Given the description of an element on the screen output the (x, y) to click on. 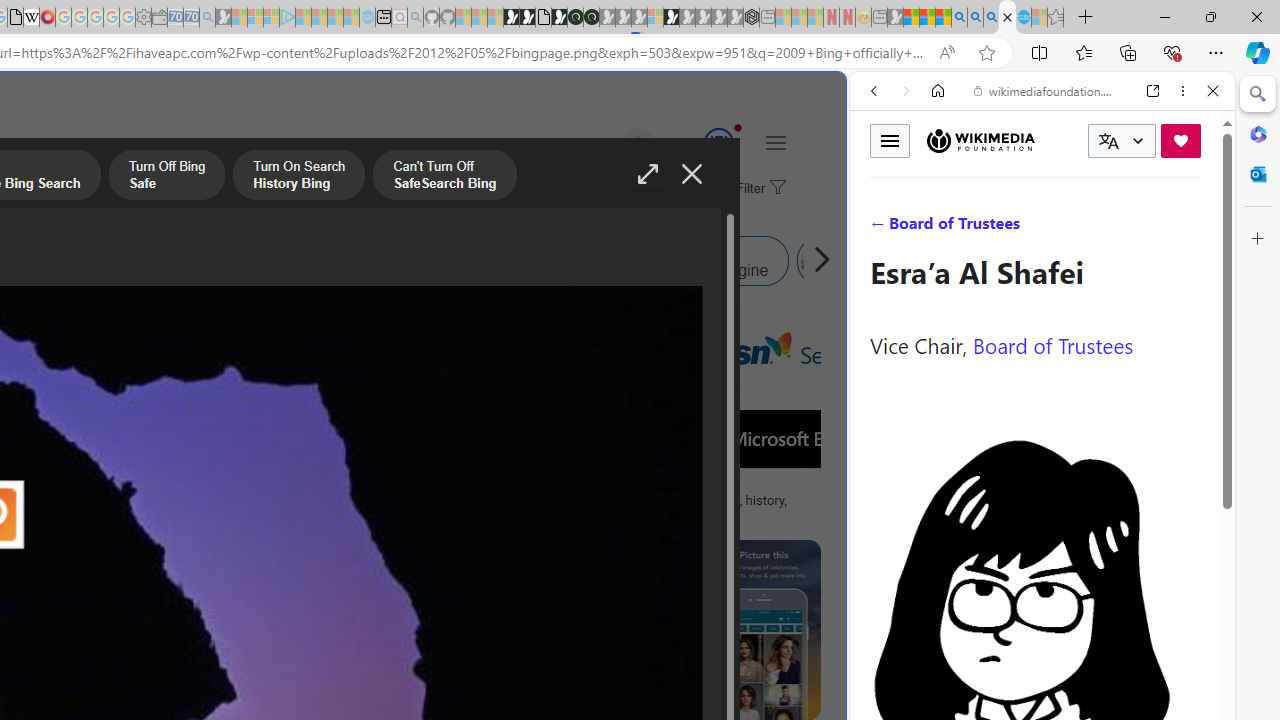
2009 Bing officially replaced Live Search on June 3 - Search (975, 17)
Turn On Search History Bing (299, 177)
Search or enter web address (343, 191)
Animation (737, 127)
Favorites - Sleeping (1055, 17)
Frequently visited (418, 265)
Tabs you've opened (276, 265)
